Given the description of an element on the screen output the (x, y) to click on. 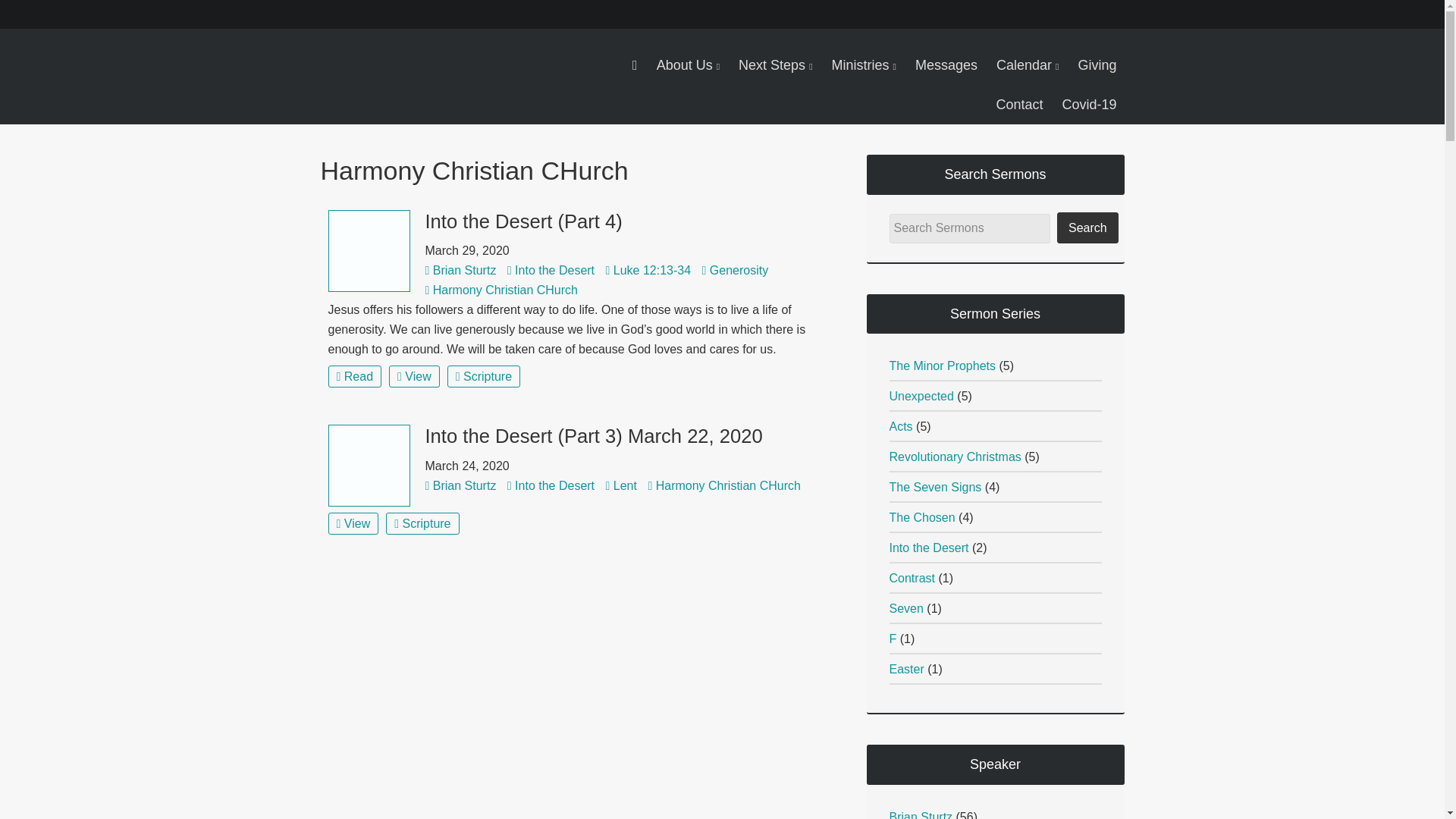
Covid-19 (1089, 104)
Scripture (421, 523)
View all sermons at Harmony Christian CHurch (727, 485)
Harmony Christian CHurch (505, 289)
Brian Sturtz (464, 485)
Into the Desert (554, 269)
Into the Desert (554, 485)
Read (354, 376)
View all sermons on the book of Luke 12:13-34 (651, 269)
Search (1087, 227)
